Given the description of an element on the screen output the (x, y) to click on. 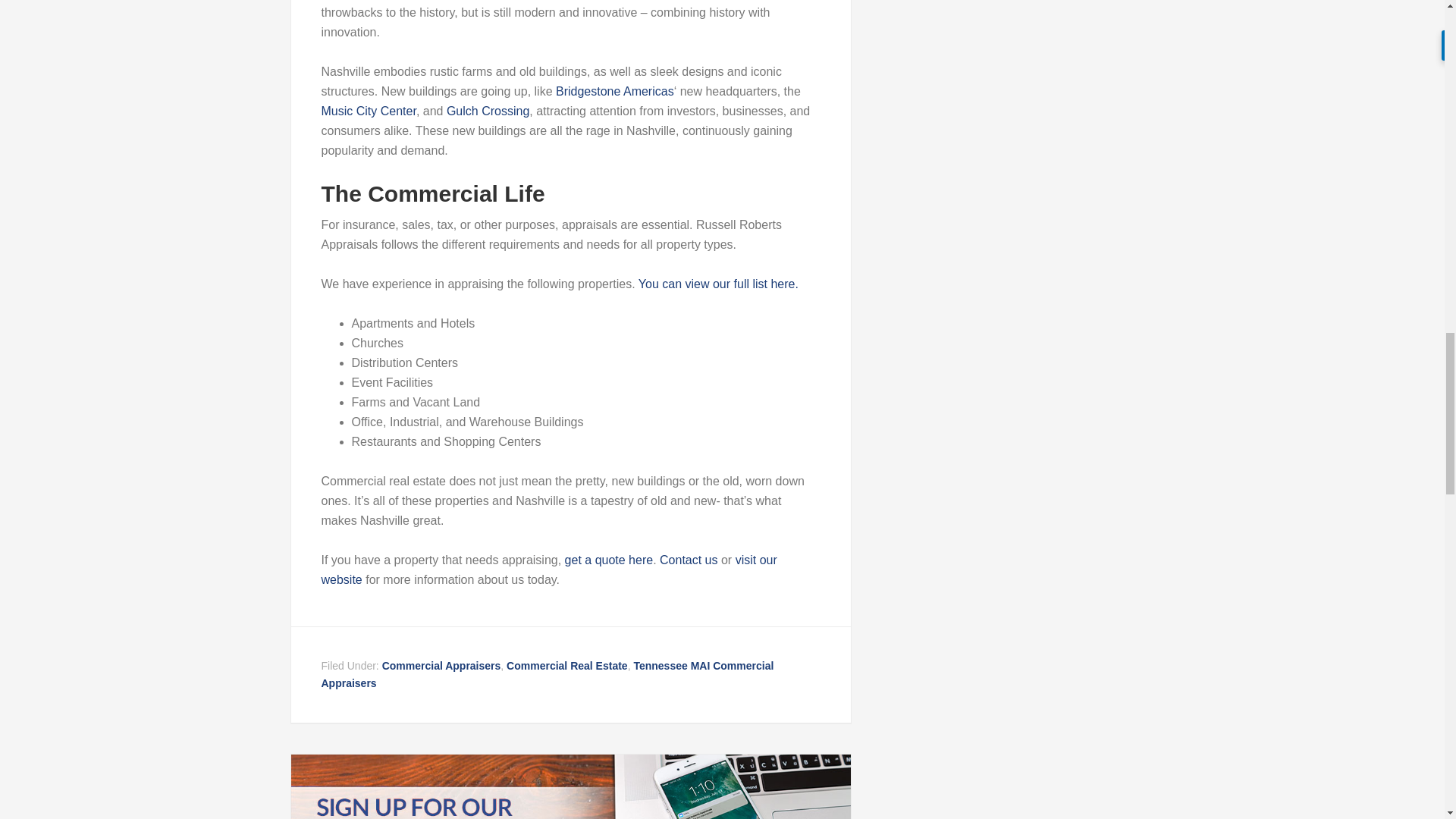
visit our website (549, 569)
Tennessee MAI Commercial Appraisers (547, 674)
Commercial Real Estate (566, 665)
You can view our full list here. (718, 283)
Bridgestone Americas (615, 91)
Music City Center (368, 110)
get a quote here (608, 559)
Contact us (688, 559)
Gulch Crossing (487, 110)
Commercial Appraisers (440, 665)
